Given the description of an element on the screen output the (x, y) to click on. 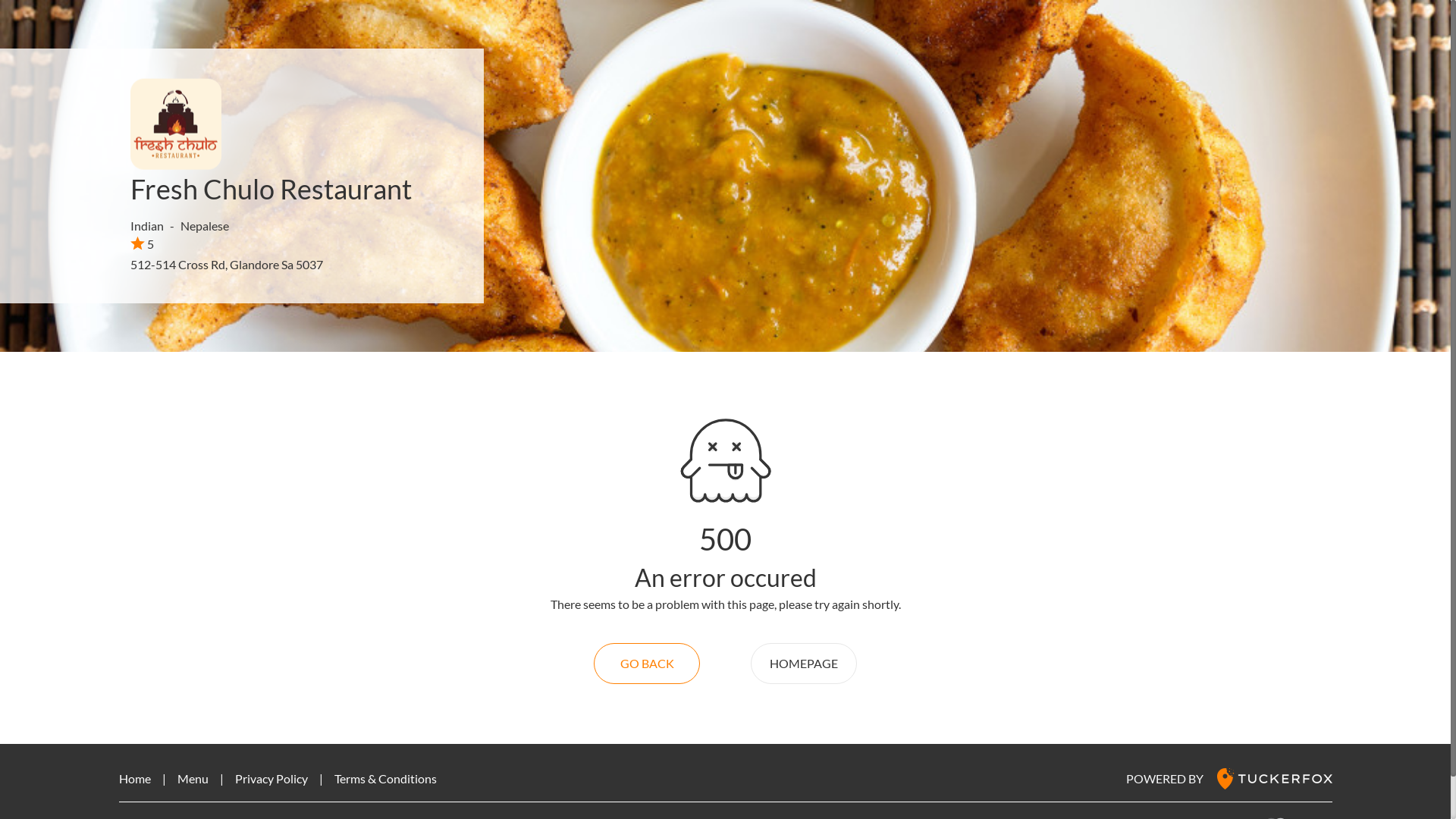
Home Element type: text (134, 778)
Fresh Chulo Restaurant Element type: text (270, 188)
Privacy Policy Element type: text (271, 778)
5 Element type: text (141, 243)
Terms & Conditions Element type: text (384, 778)
Menu Element type: text (192, 778)
GO BACK Element type: text (646, 663)
HOMEPAGE Element type: text (803, 663)
